Given the description of an element on the screen output the (x, y) to click on. 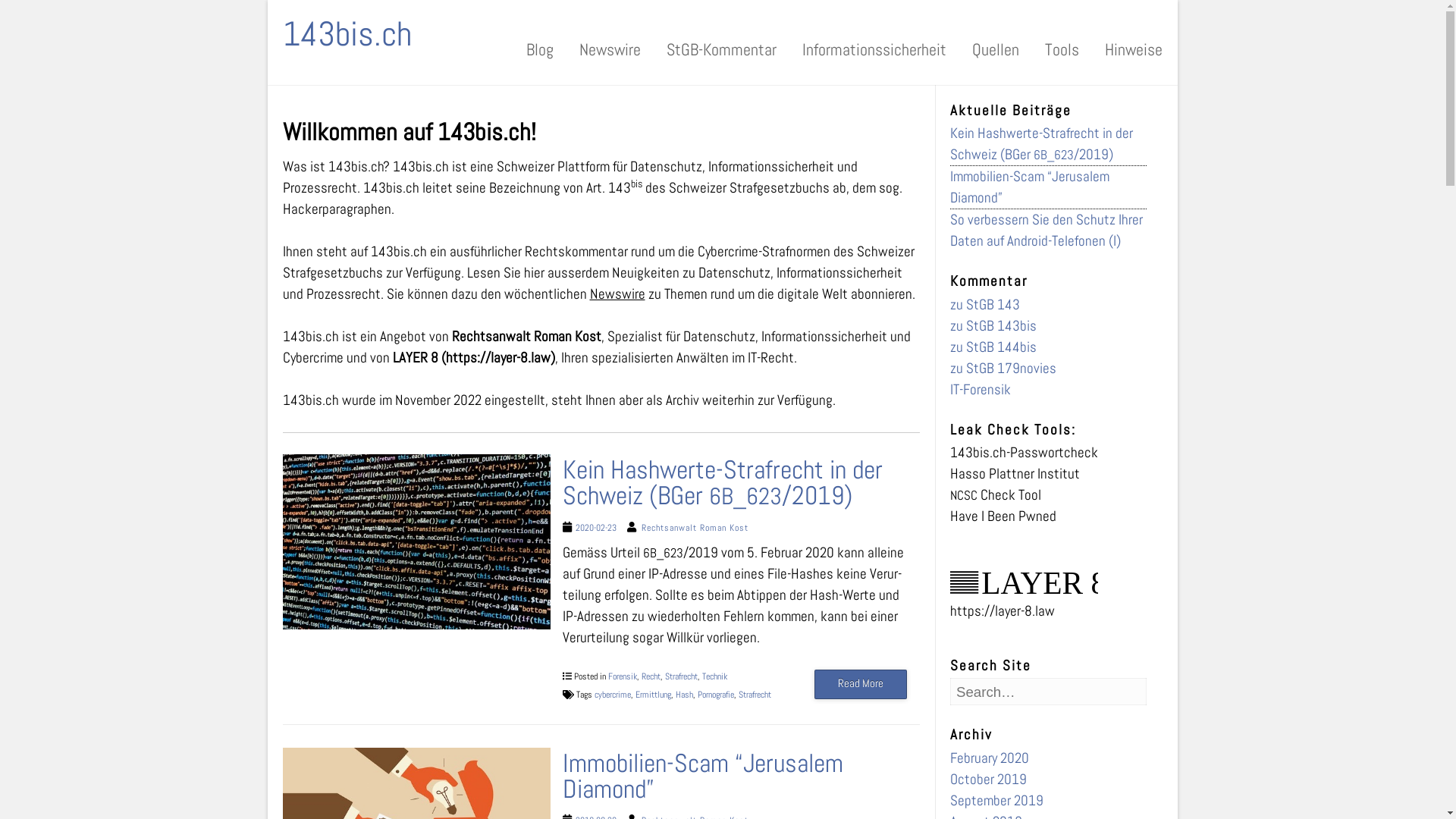
143bis.ch Element type: text (346, 25)
Recht Element type: text (650, 676)
October 2019 Element type: text (988, 779)
Strafrecht Element type: text (754, 694)
zu StGB 143 Element type: text (984, 304)
cybercrime Element type: text (612, 694)
2020-02-23 Element type: text (595, 527)
Pornografie Element type: text (715, 694)
Have I Been Pwned Element type: text (1003, 516)
Forensik Element type: text (622, 676)
Search for: Element type: hover (999, 60)
Rechtsanwalt Roman Kost Element type: text (526, 336)
143bis.ch-Passwortcheck Element type: text (1024, 452)
Rechtsanwalt Roman Kost Element type: text (694, 527)
Strafrecht Element type: text (681, 676)
NCSC Check Tool Element type: text (995, 495)
September 2019 Element type: text (996, 800)
zu StGB 179novies Element type: text (1003, 368)
Newswire Element type: text (617, 294)
February 2020 Element type: text (989, 758)
zu StGB 143bis Element type: text (993, 325)
Hash Element type: text (684, 694)
https://layer-8.law Element type: text (1002, 611)
(https://layer-8.law) Element type: text (498, 357)
Search for: Element type: hover (1048, 691)
Technik Element type: text (714, 676)
Read More Element type: text (860, 684)
Tools Element type: text (1060, 60)
zu StGB 144bis Element type: text (993, 347)
Blog Element type: text (539, 60)
Ermittlung Element type: text (653, 694)
